Given the description of an element on the screen output the (x, y) to click on. 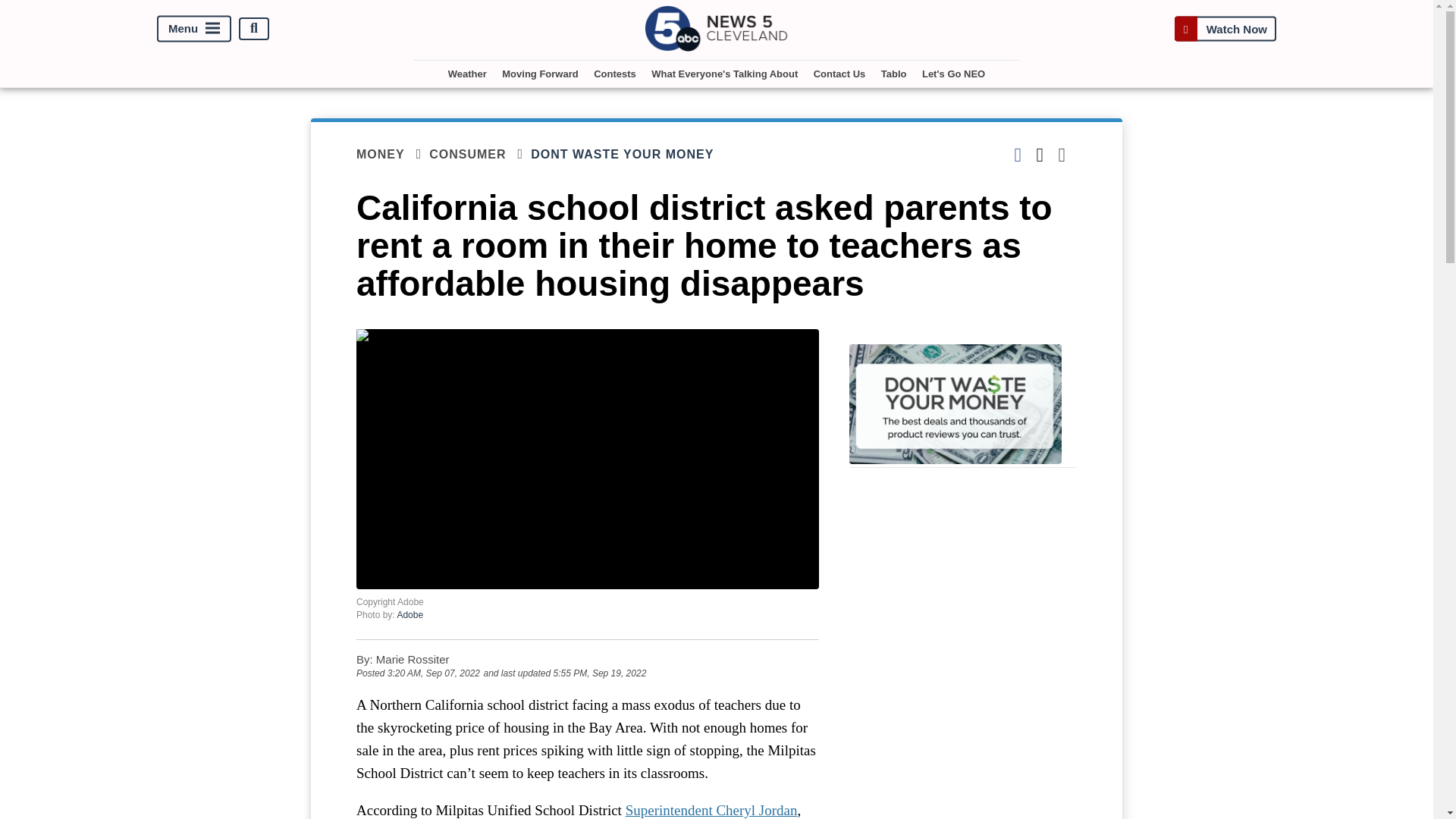
Menu (194, 28)
Watch Now (1224, 28)
